Given the description of an element on the screen output the (x, y) to click on. 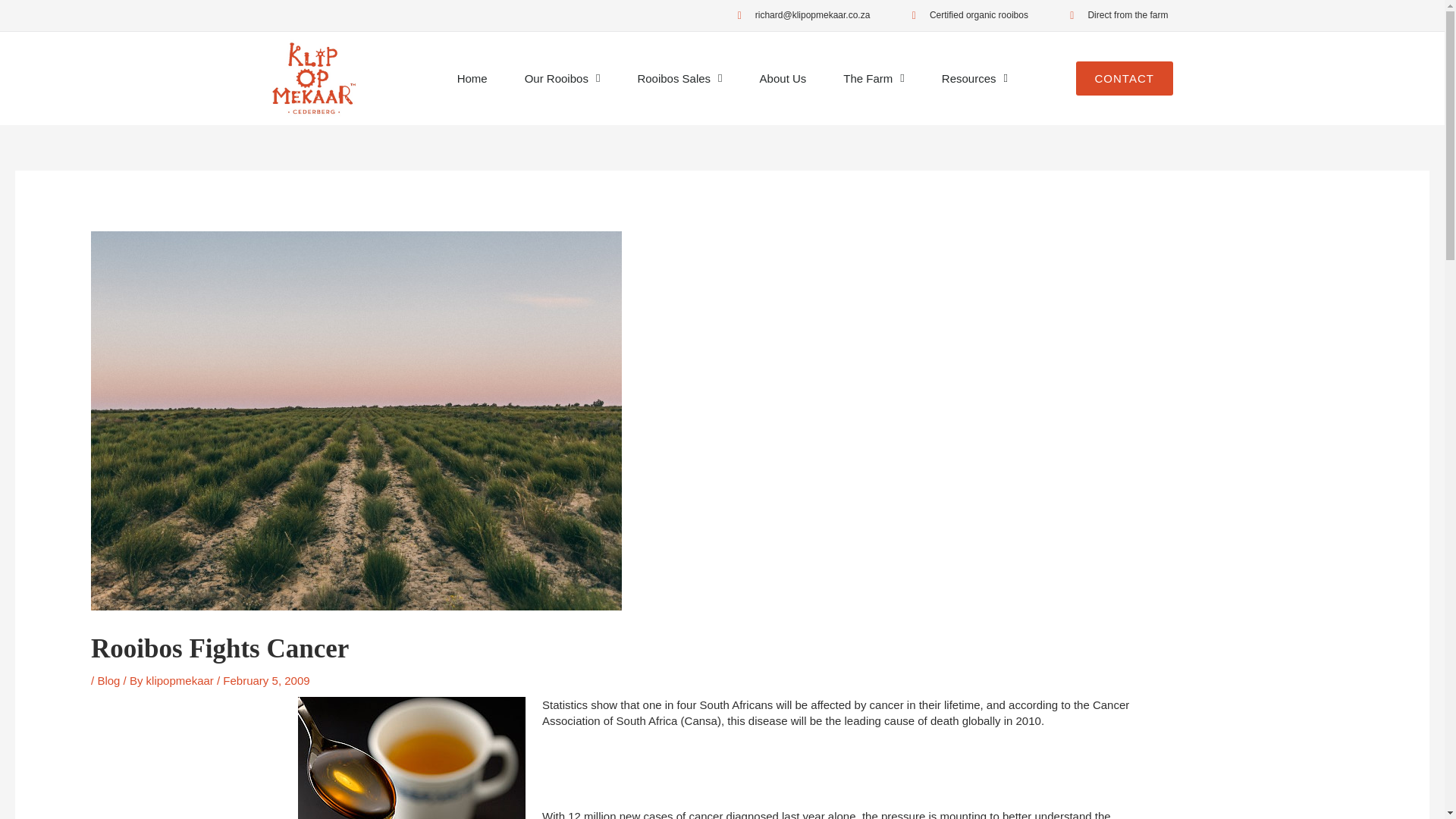
View all posts by klipopmekaar (181, 680)
CONTACT (1123, 78)
Home (472, 78)
cup (410, 757)
Rooibos Sales (678, 78)
The Farm (874, 78)
Our Rooibos (562, 78)
Resources (974, 78)
About Us (783, 78)
